Given the description of an element on the screen output the (x, y) to click on. 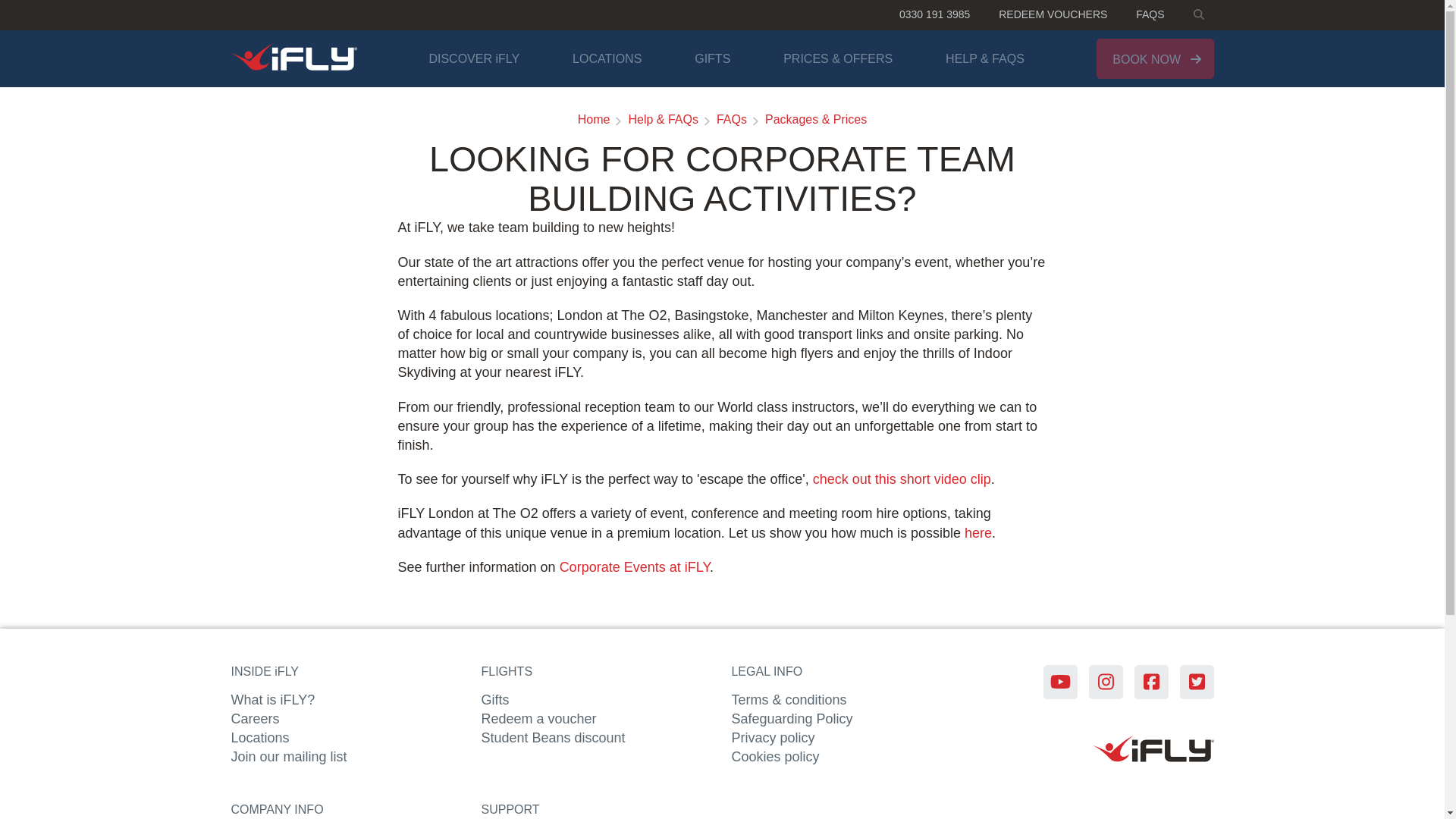
GIFTS (712, 58)
REDEEM VOUCHERS (1052, 14)
Corporate Events (634, 566)
LOCATIONS (606, 58)
DISCOVER iFLY (473, 58)
0330 191 3985 (934, 14)
FAQS (1149, 14)
Search (1198, 14)
iFLY (293, 58)
iFLY (1197, 15)
